Given the description of an element on the screen output the (x, y) to click on. 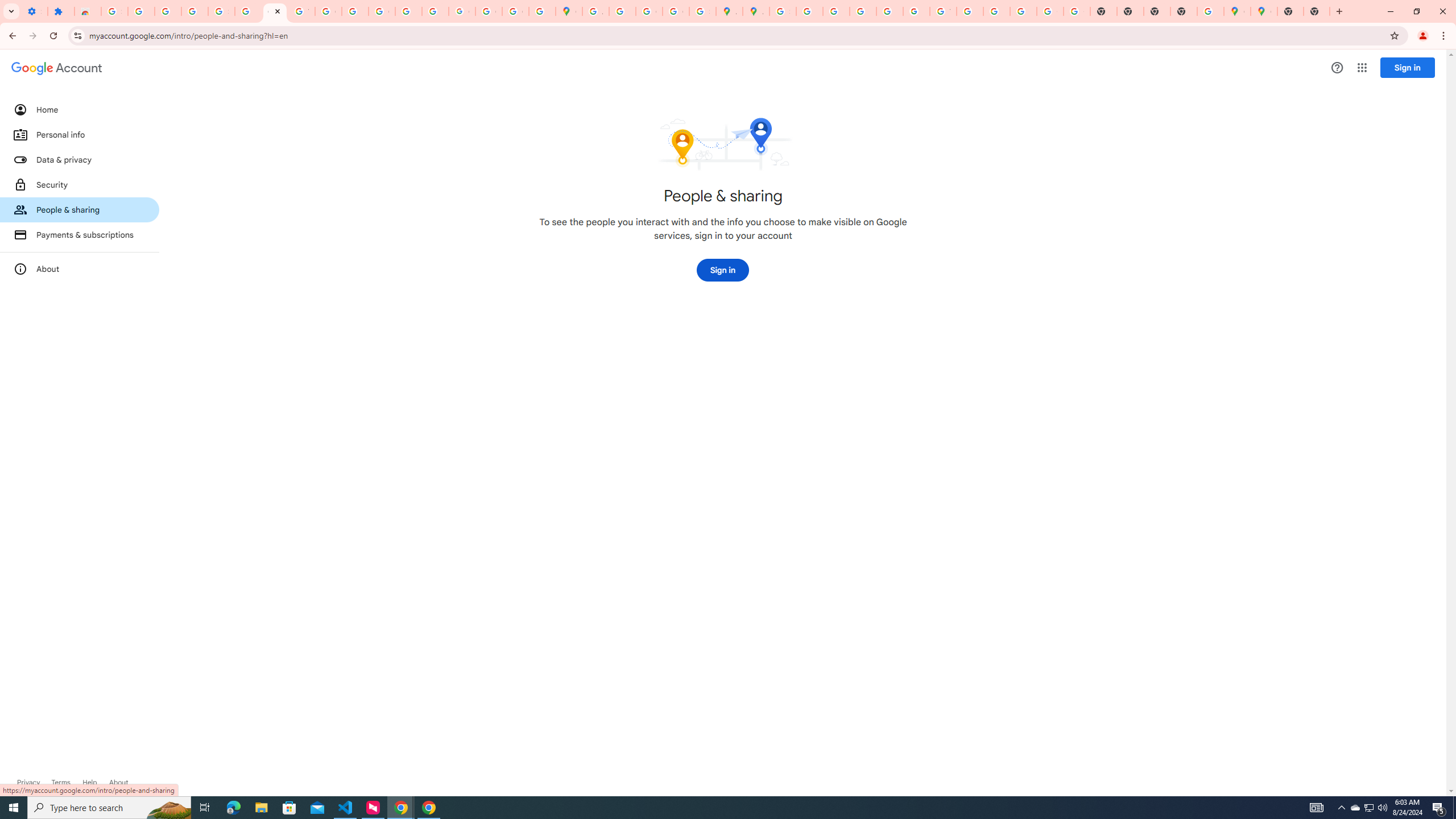
Delete photos & videos - Computer - Google Photos Help (141, 11)
Google Maps (1263, 11)
Personal info (79, 134)
Privacy Help Center - Policies Help (862, 11)
More information about the Google Account (79, 268)
Security (79, 184)
Sign in - Google Accounts (221, 11)
